Given the description of an element on the screen output the (x, y) to click on. 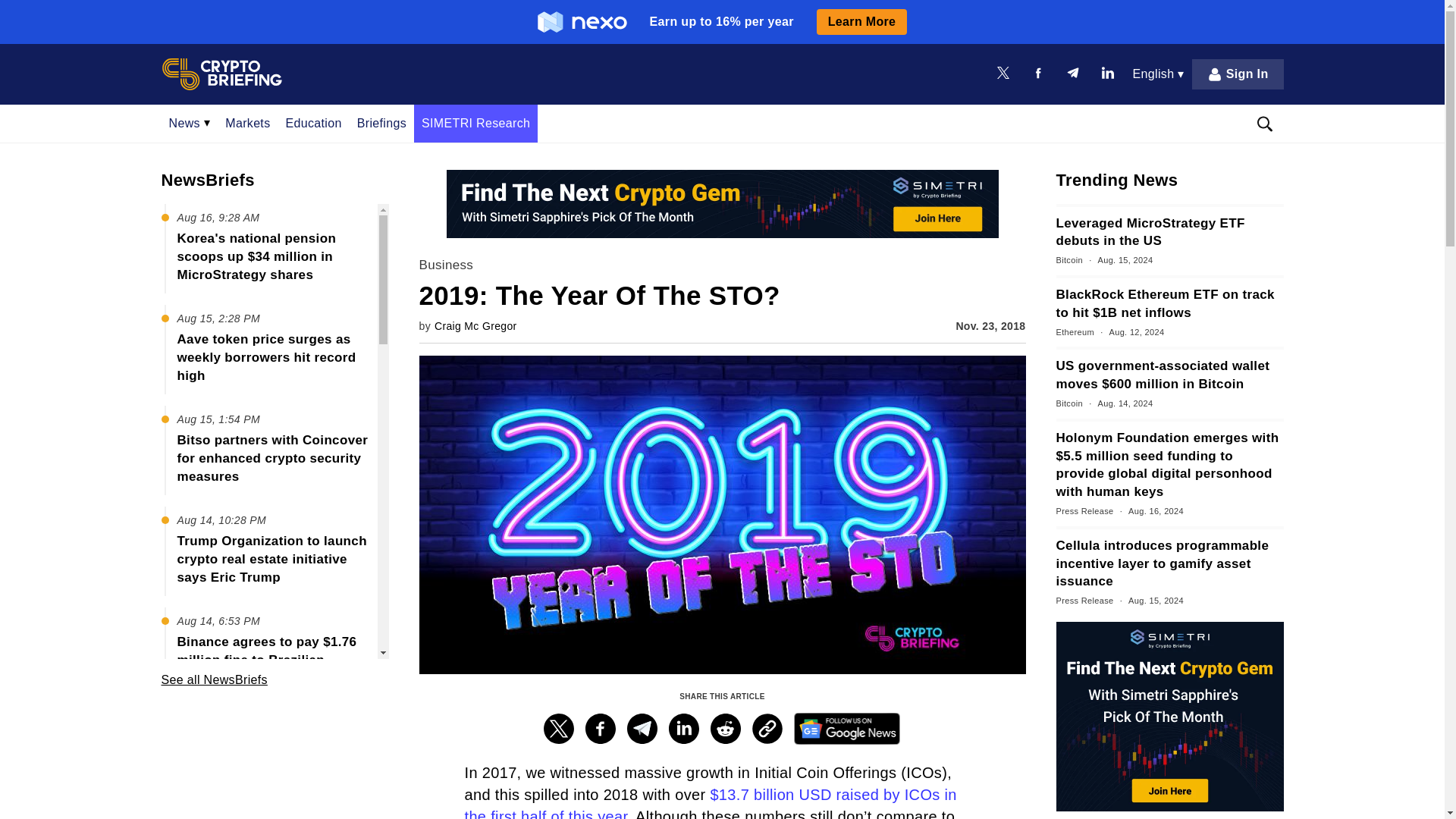
News (188, 123)
Learn More (861, 22)
Sign In (1238, 73)
Sign In (1238, 73)
